Given the description of an element on the screen output the (x, y) to click on. 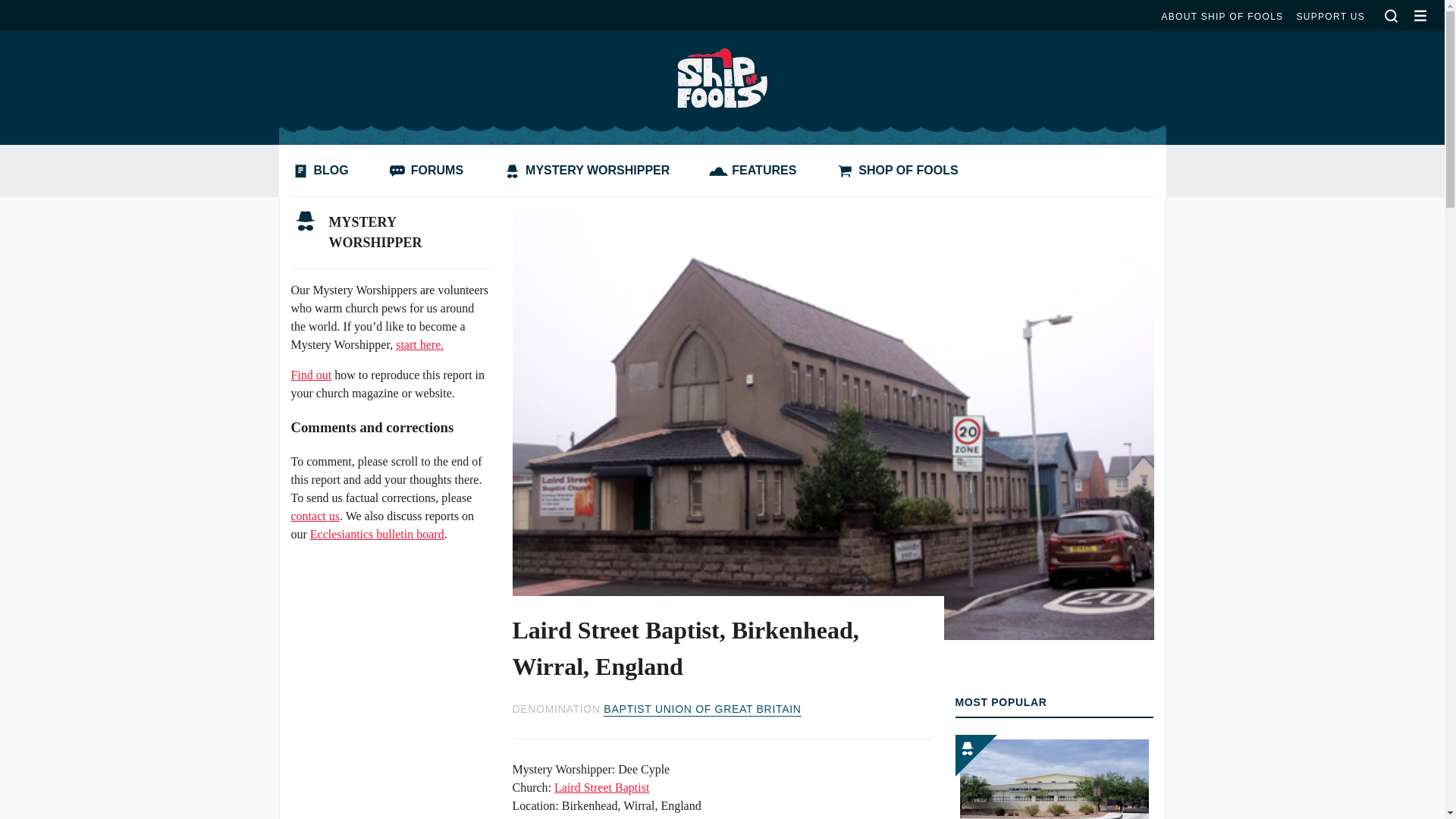
FEATURES (756, 170)
BLOG (322, 170)
FORUMS (429, 170)
SUPPORT US (1330, 16)
Find out (311, 374)
Ecclesiantics bulletin board (377, 533)
Church of Christ, Valley Congregation (1054, 776)
start here. (420, 344)
SHOP OF FOOLS (900, 170)
MYSTERY WORSHIPPER (390, 232)
Ship of Fools (721, 76)
BAPTIST UNION OF GREAT BRITAIN (702, 709)
MYSTERY WORSHIPPER (590, 170)
ABOUT SHIP OF FOOLS (1221, 16)
Laird Street Baptist (601, 787)
